Given the description of an element on the screen output the (x, y) to click on. 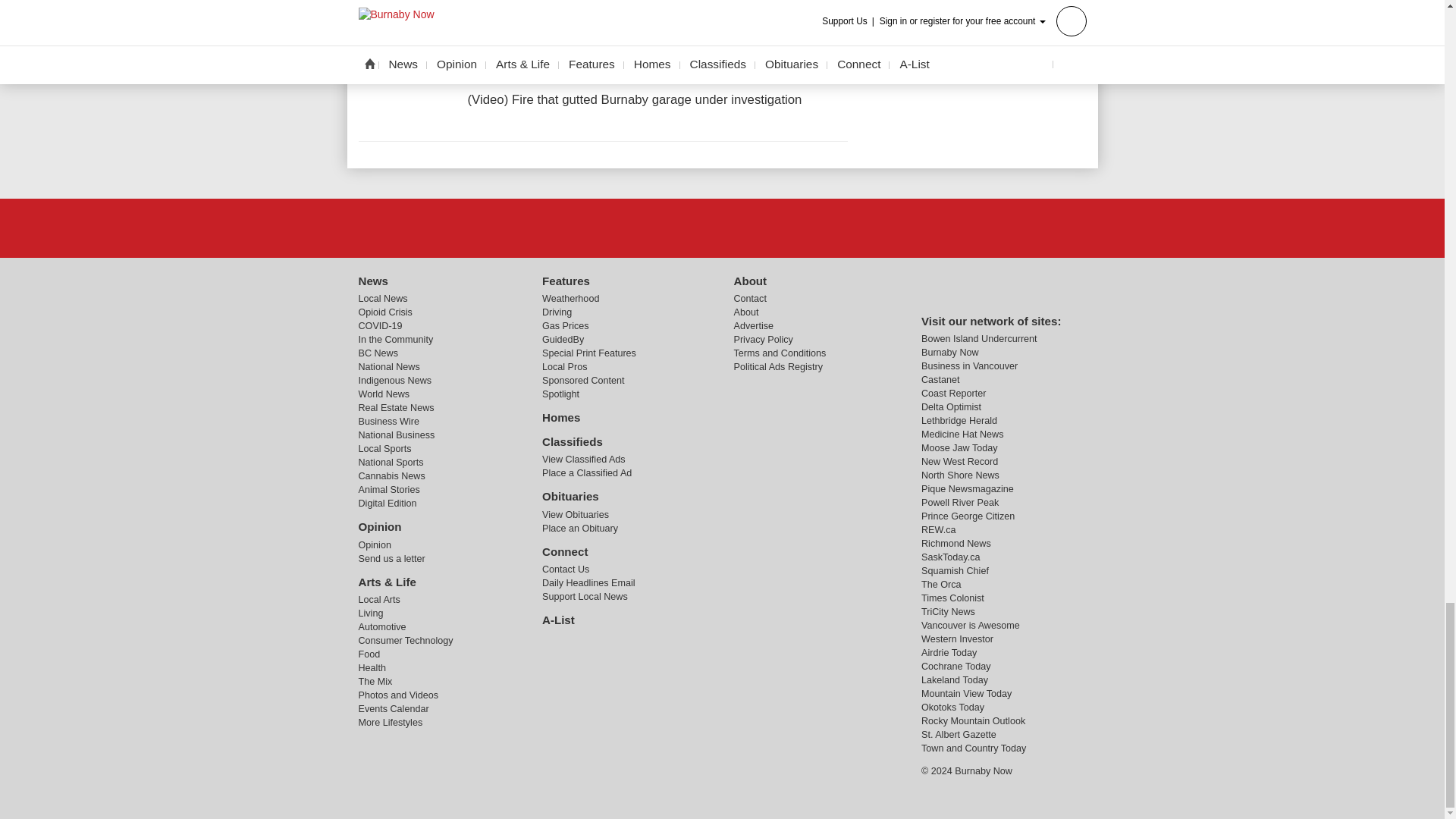
Instagram (760, 226)
X (721, 226)
Facebook (683, 226)
